Given the description of an element on the screen output the (x, y) to click on. 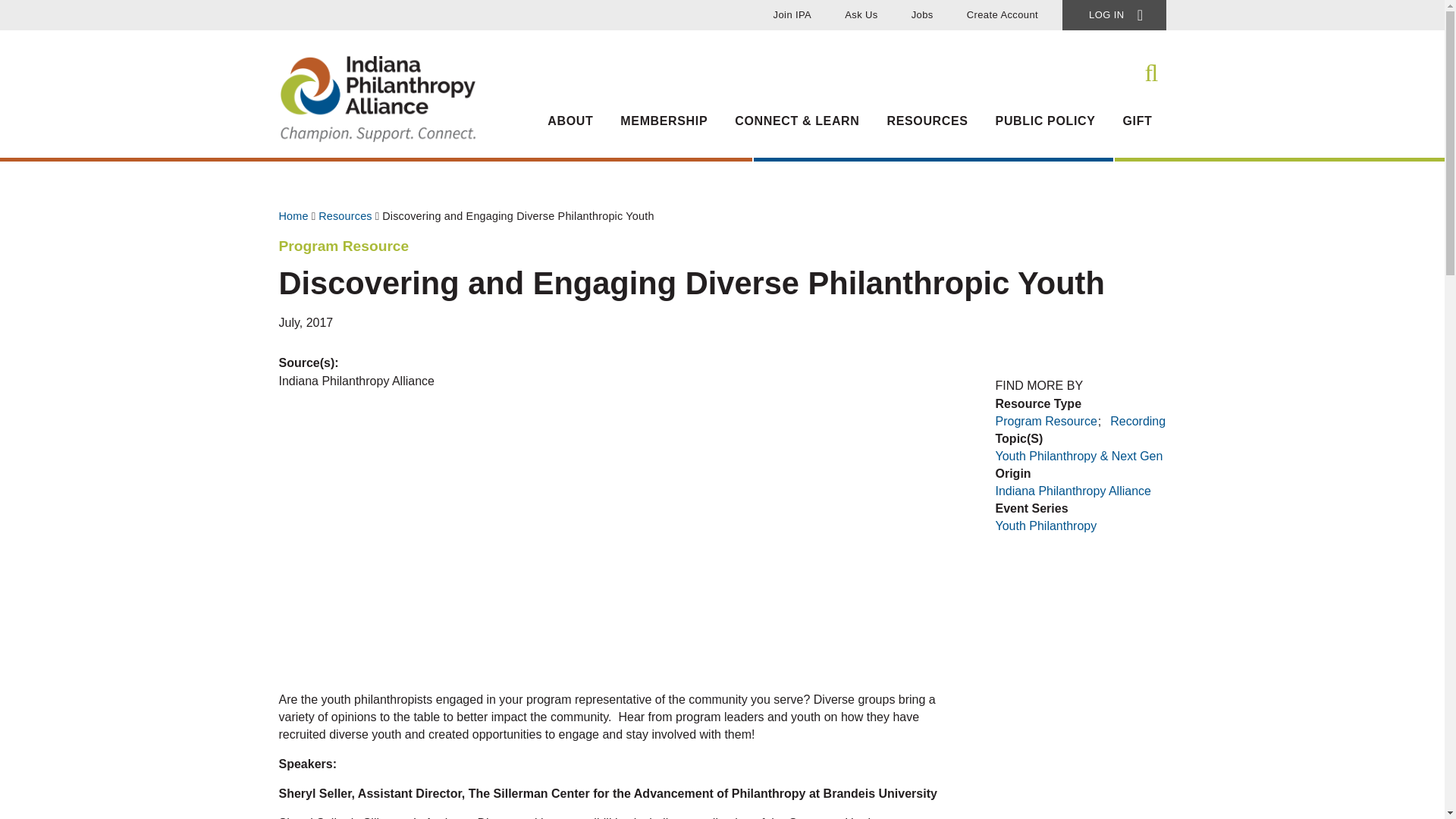
ABOUT (570, 128)
Ask Us (861, 15)
Jobs (922, 15)
Home (377, 139)
RESOURCES (926, 128)
MEMBERSHIP (663, 128)
LOG IN (1114, 15)
Join IPA (792, 15)
Create Account (1002, 15)
